Given the description of an element on the screen output the (x, y) to click on. 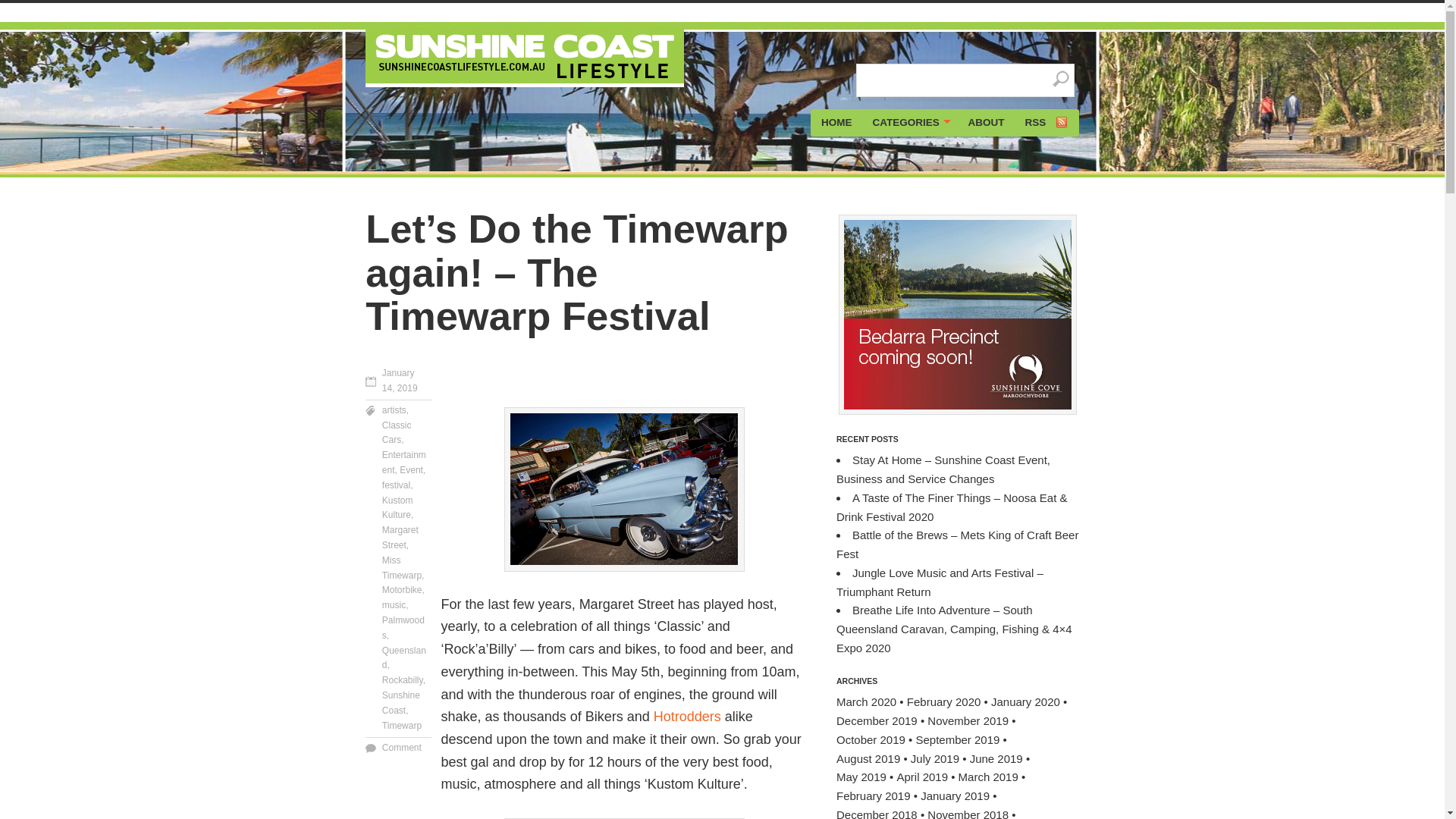
Margaret Street (400, 537)
Palmwoods (403, 627)
Motorbike (401, 589)
Classic Cars (396, 432)
festival (395, 484)
Sunshine Coast (400, 702)
CATEGORIES (909, 122)
music (393, 604)
Rockabilly (402, 679)
Hotrodders (686, 716)
ABOUT (986, 122)
Miss Timewarp (401, 567)
Queensland (403, 657)
Comment (401, 747)
HOME (835, 122)
